Given the description of an element on the screen output the (x, y) to click on. 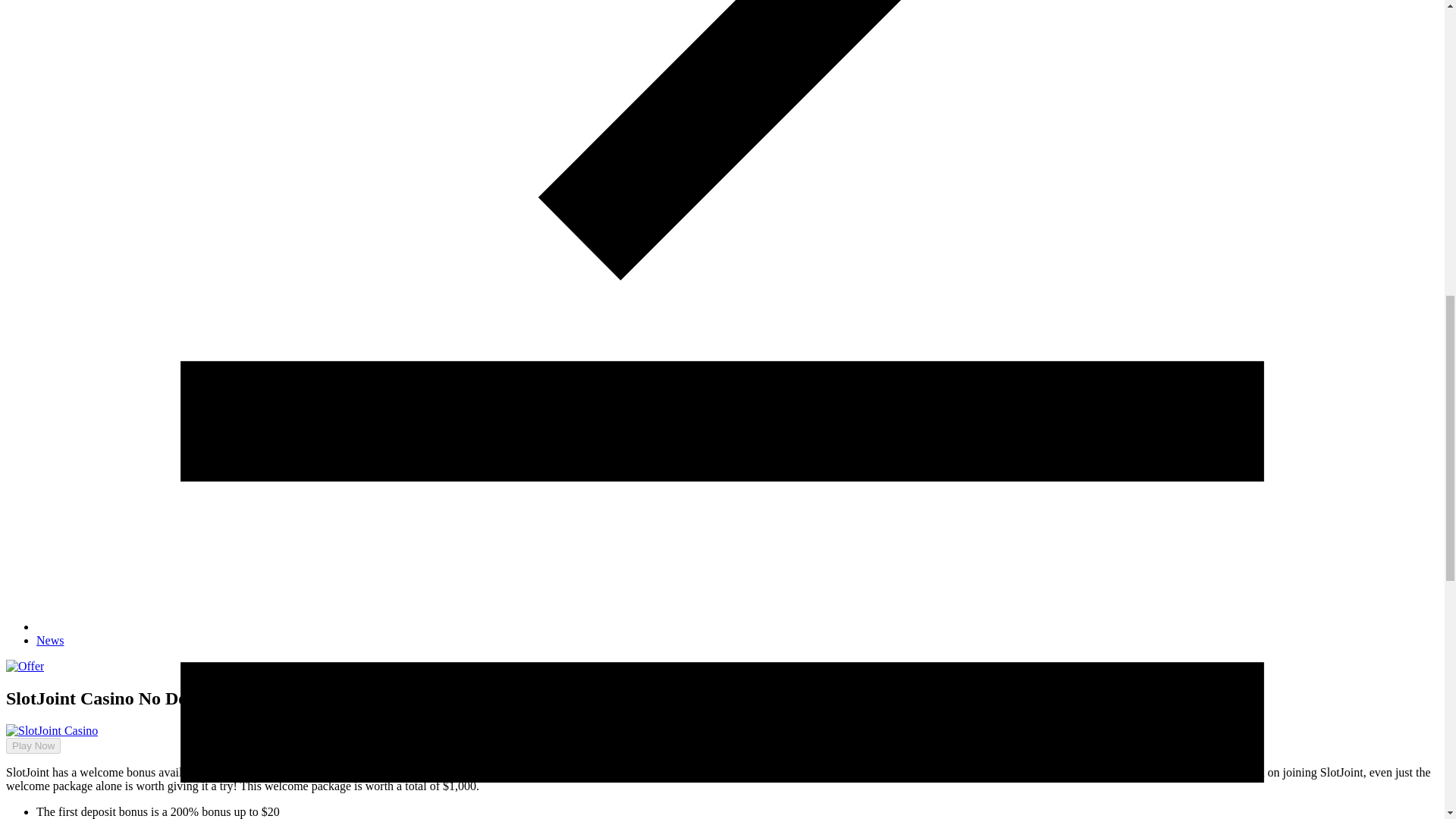
Play Now (33, 745)
News (50, 640)
Play Now (27, 731)
